Given the description of an element on the screen output the (x, y) to click on. 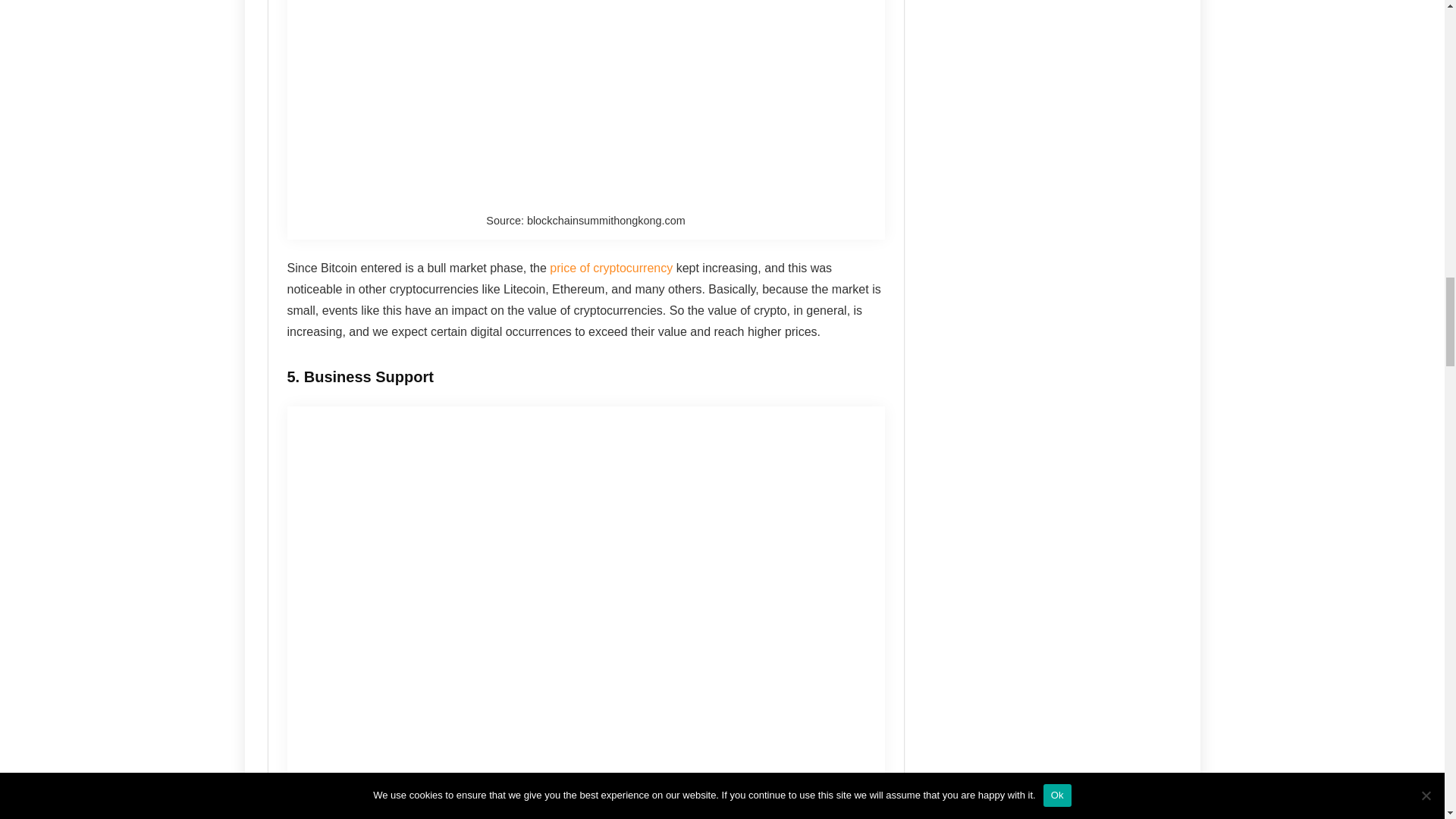
price of cryptocurrency (611, 267)
